Given the description of an element on the screen output the (x, y) to click on. 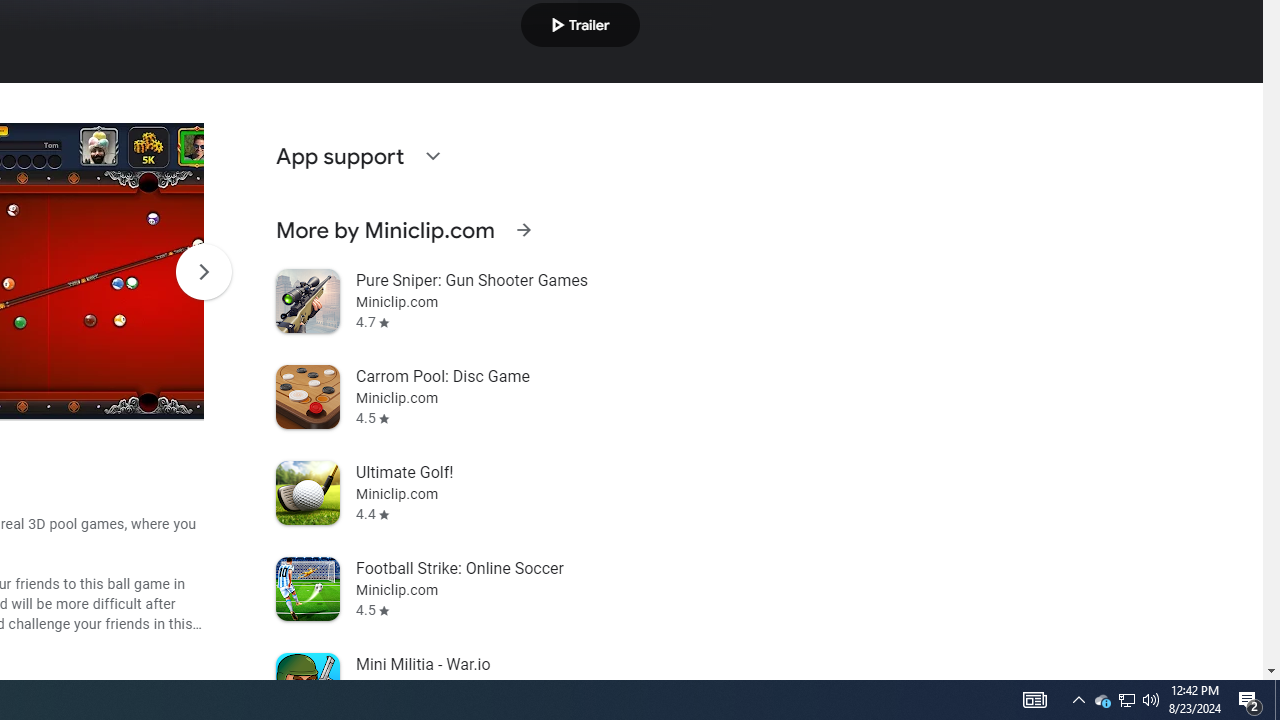
See more information on More by Miniclip.com (523, 229)
Scroll Next (203, 272)
Expand (432, 155)
Play trailer (580, 24)
